Given the description of an element on the screen output the (x, y) to click on. 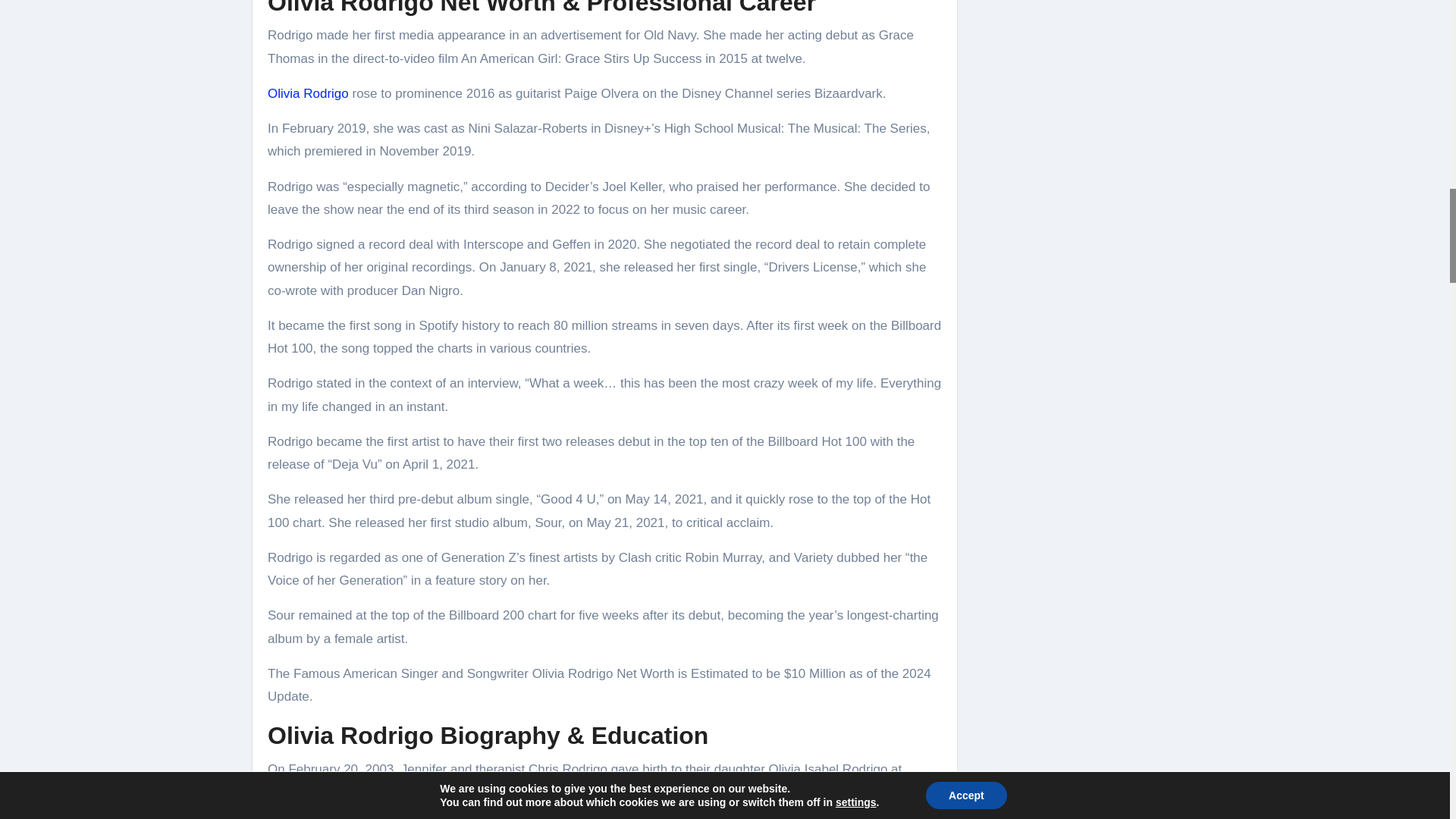
Olivia Rodrigo (308, 93)
